Given the description of an element on the screen output the (x, y) to click on. 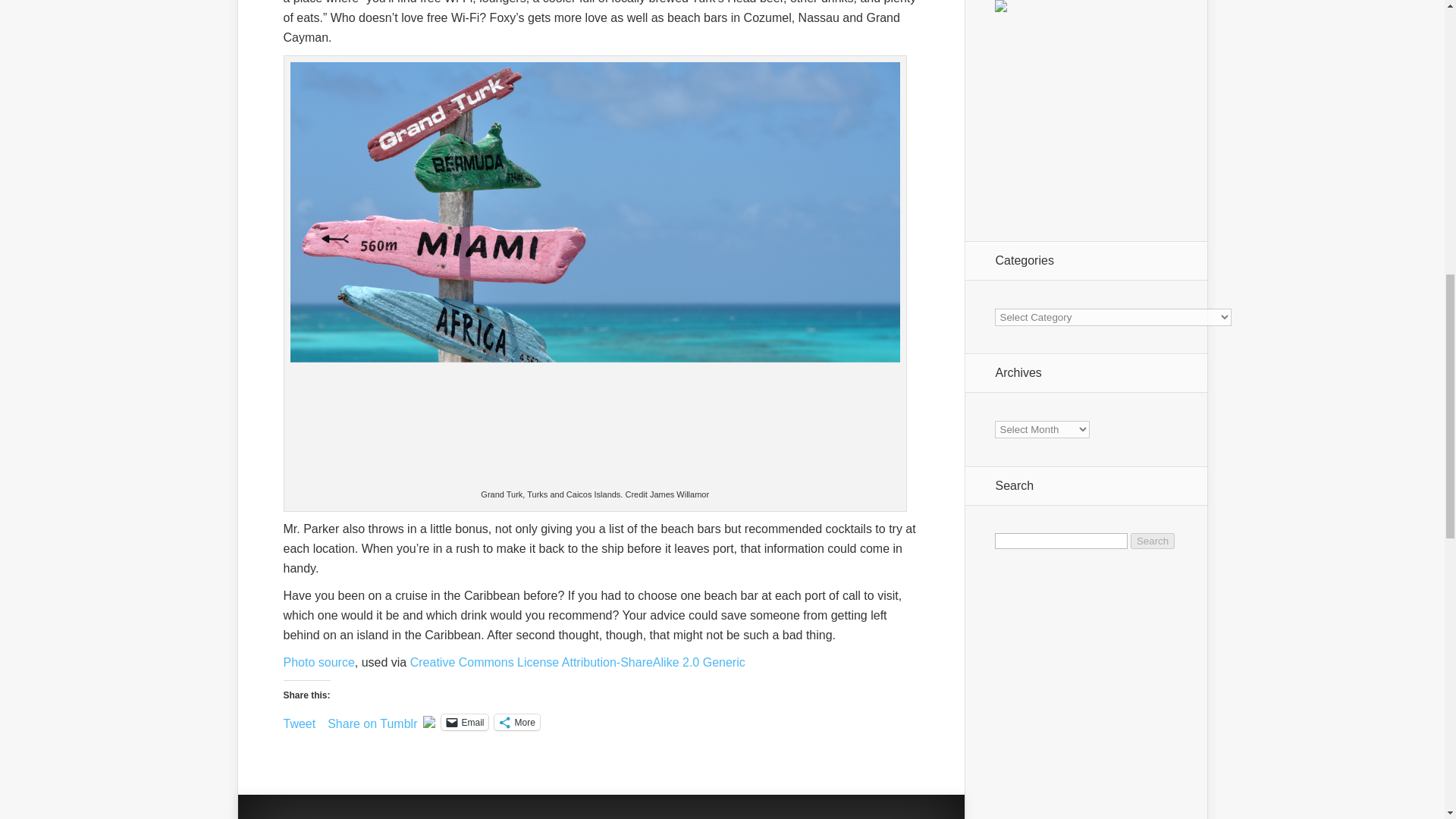
Photo source (319, 662)
More (516, 722)
Tweet (299, 721)
Creative Commons License Attribution-ShareAlike 2.0 Generic (577, 662)
Share on Tumblr (371, 721)
Share on Tumblr (371, 721)
Click to email a link to a friend (464, 722)
Email (464, 722)
Search (1152, 540)
